Given the description of an element on the screen output the (x, y) to click on. 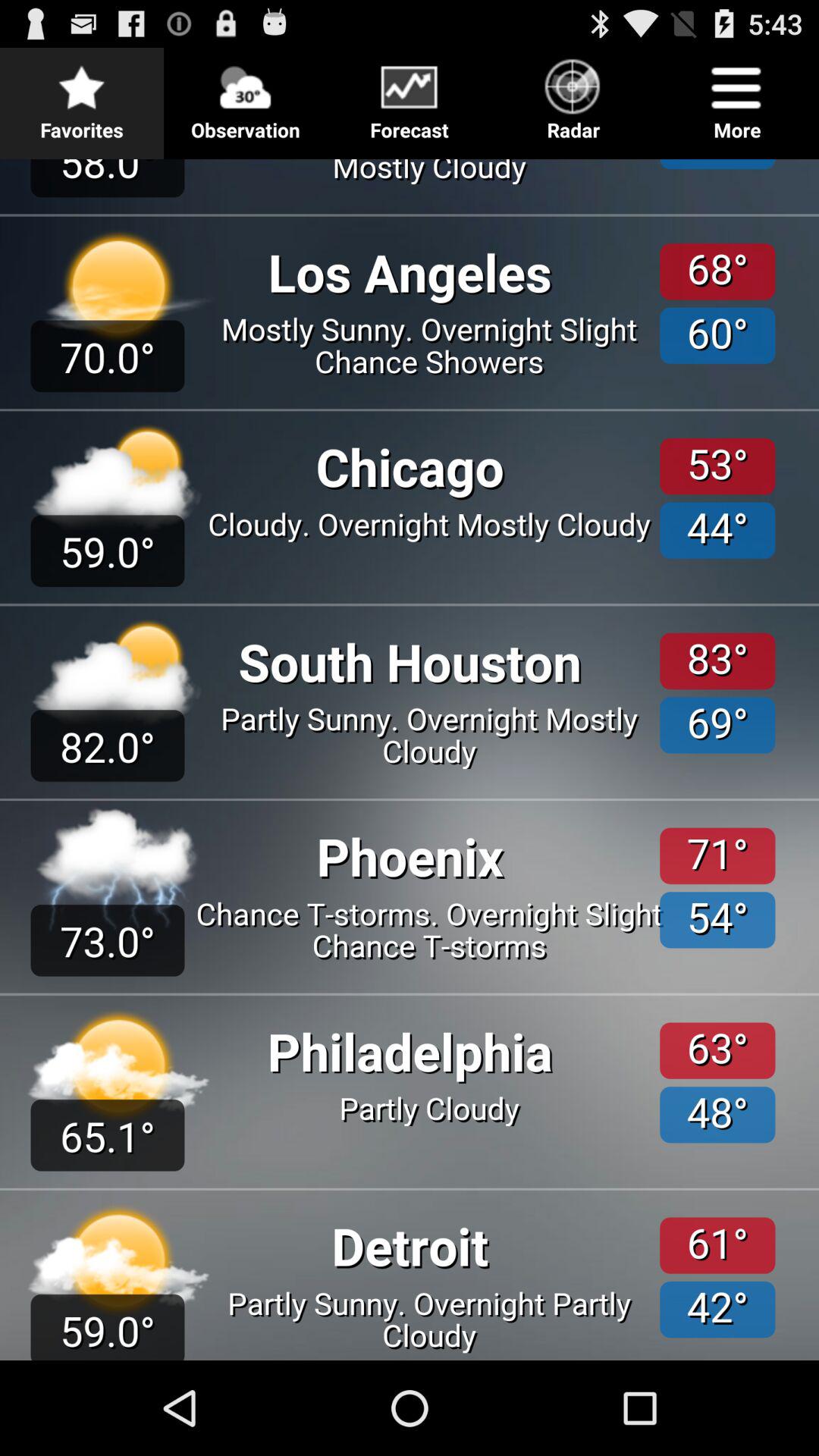
open the icon to the left of more icon (573, 95)
